Given the description of an element on the screen output the (x, y) to click on. 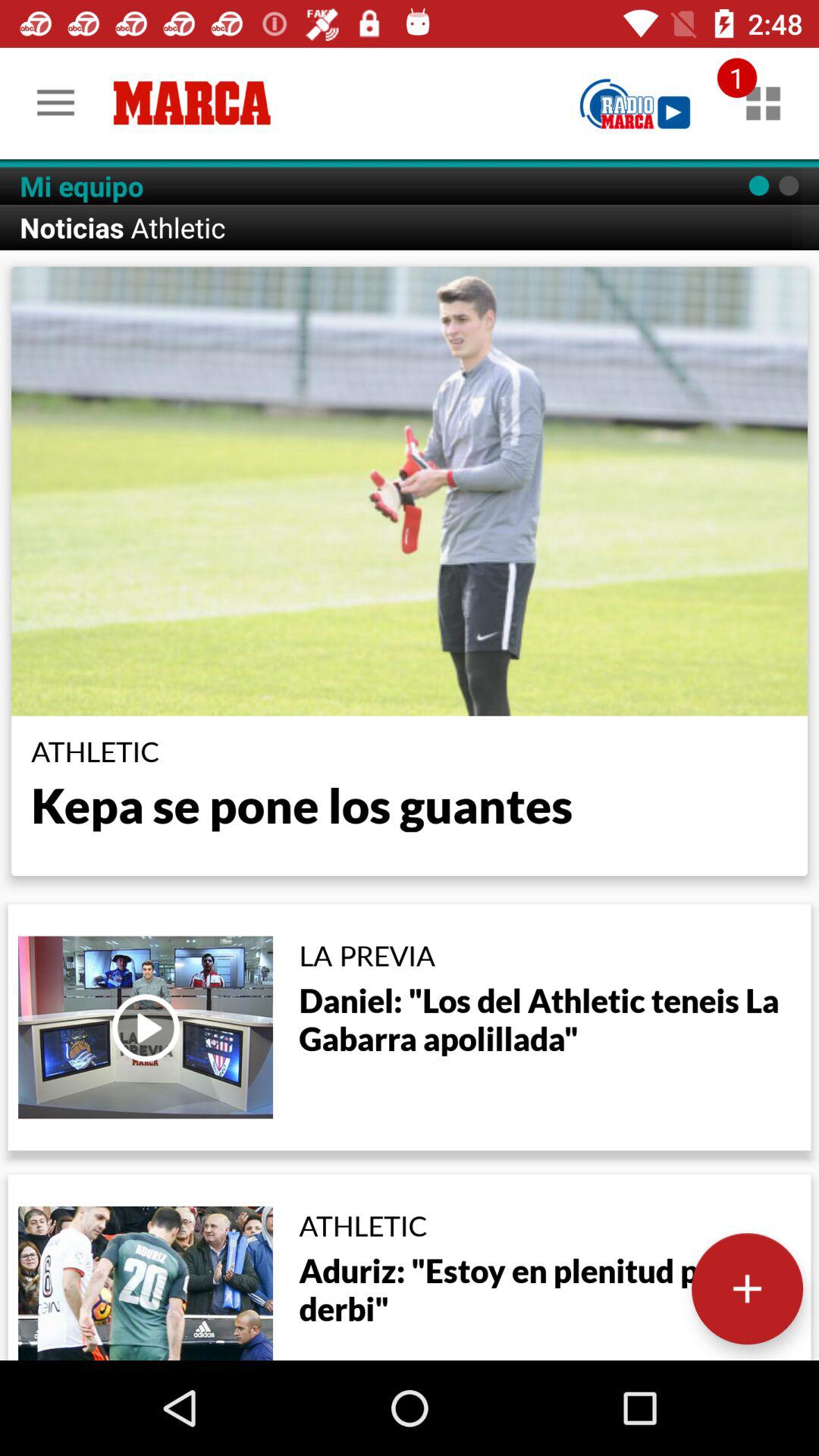
radio marca home (635, 103)
